Given the description of an element on the screen output the (x, y) to click on. 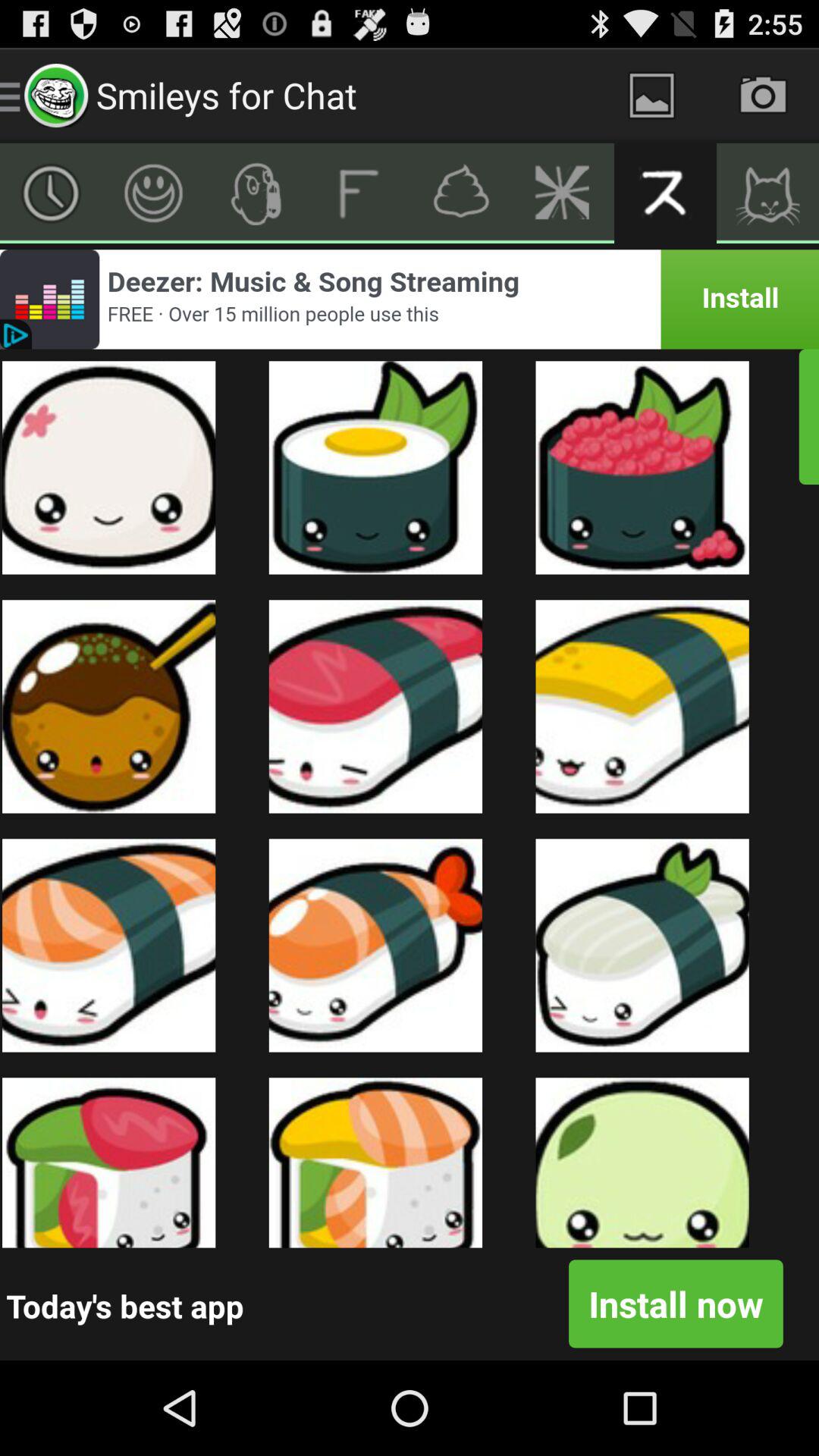
open the images in the phone memory (651, 95)
